Given the description of an element on the screen output the (x, y) to click on. 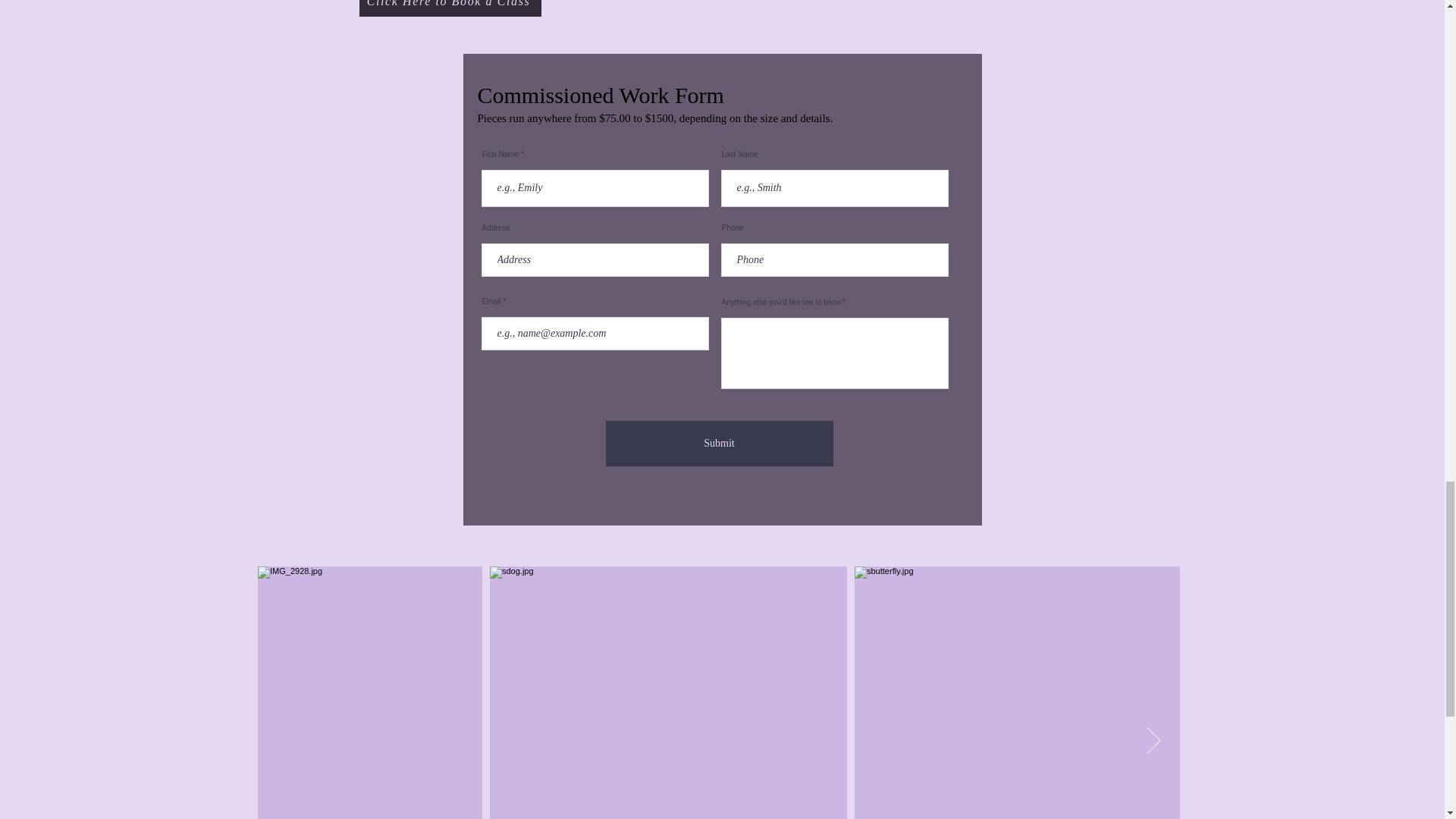
Click Here to Book a Class (450, 8)
Submit (718, 443)
